Given the description of an element on the screen output the (x, y) to click on. 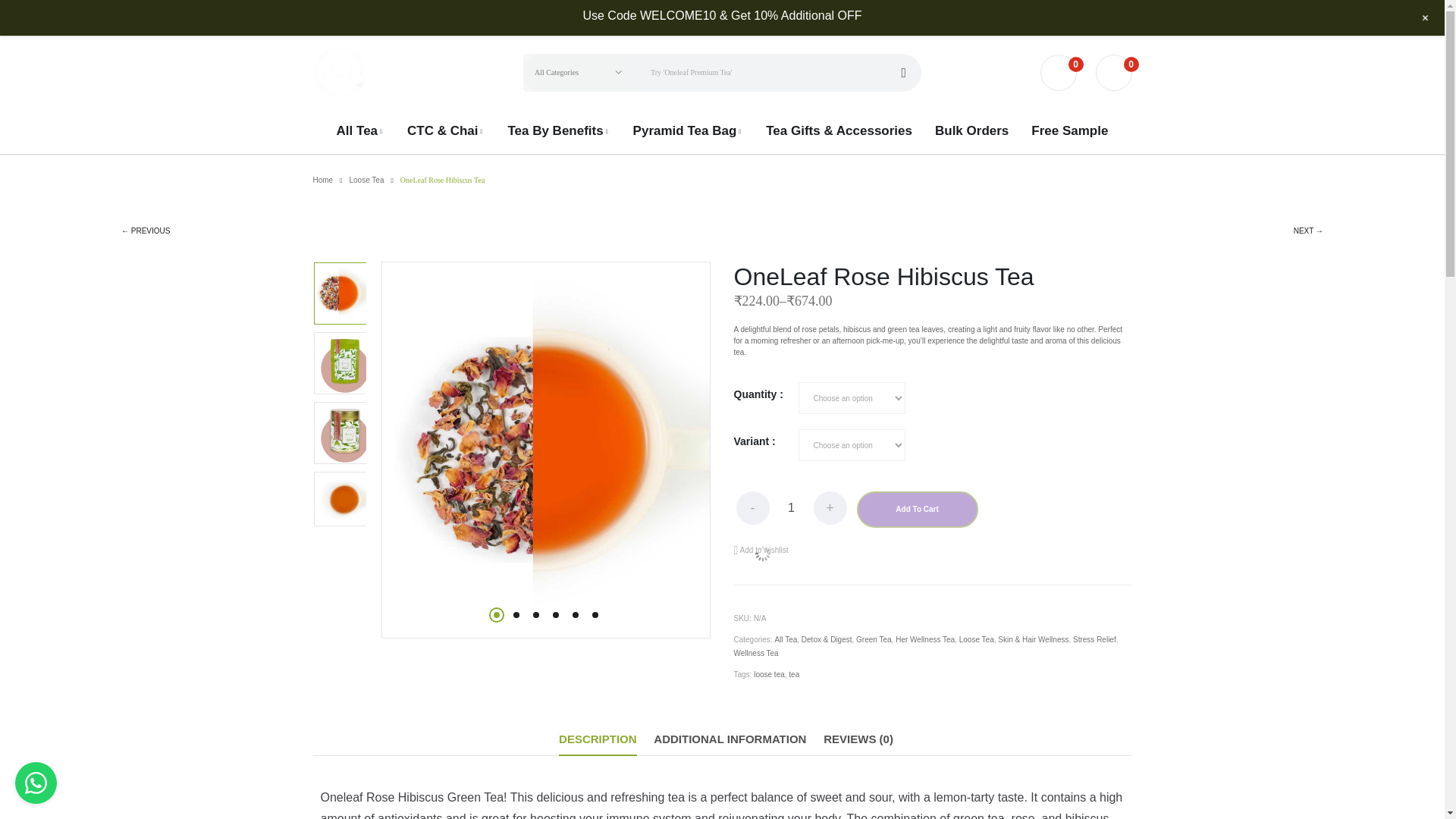
Bulk Orders (971, 130)
Tea By Benefits (558, 130)
Free Sample (1069, 130)
0 (1059, 72)
- (751, 507)
Home (323, 180)
All Tea (360, 130)
1 (790, 507)
0 (1112, 72)
Pyramid Tea Bag (688, 130)
Qty (790, 507)
